Given the description of an element on the screen output the (x, y) to click on. 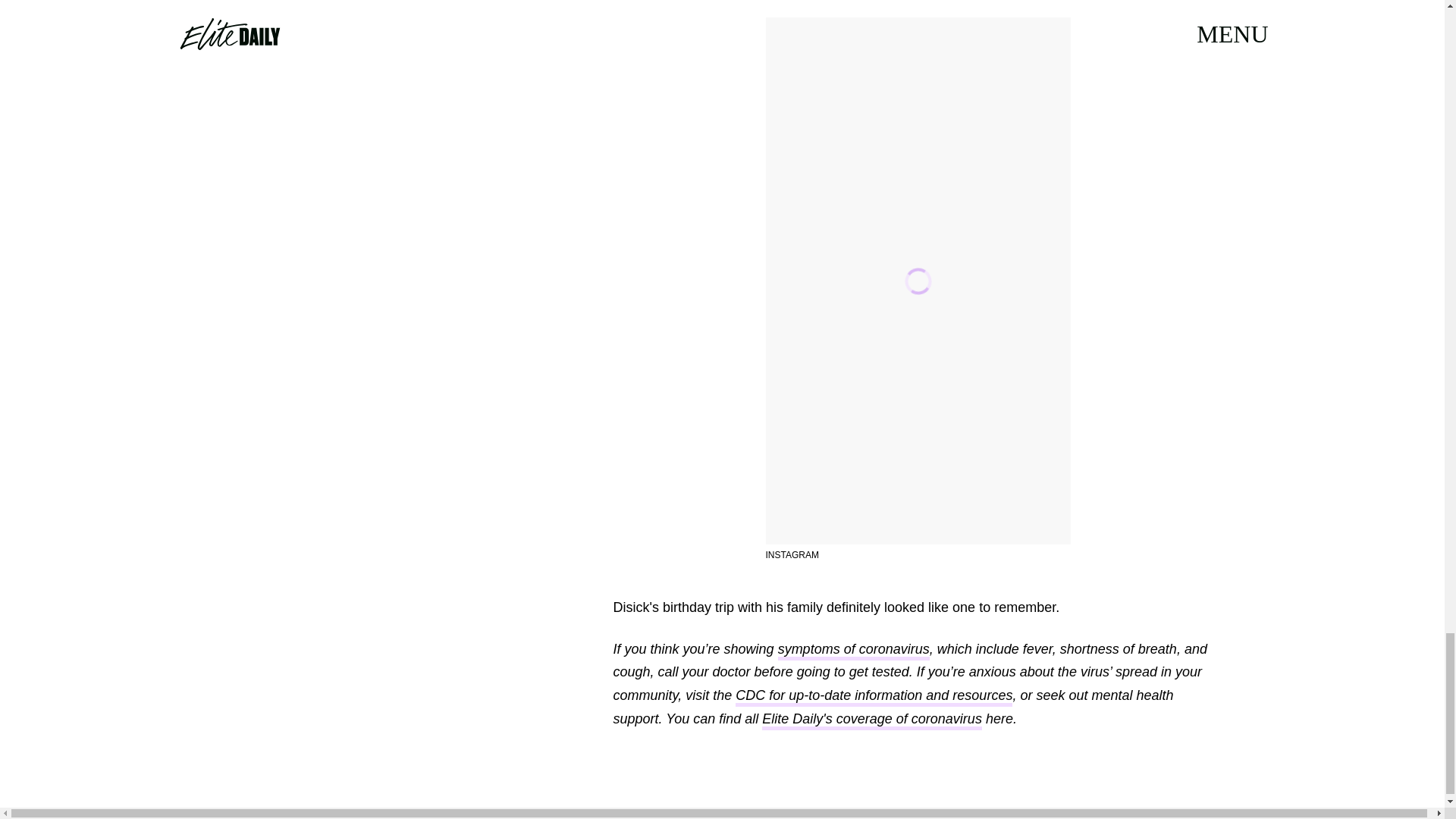
symptoms of coronavirus (853, 650)
Elite Daily's coverage of coronavirus (871, 720)
CDC for up-to-date information and resources (873, 696)
